Given the description of an element on the screen output the (x, y) to click on. 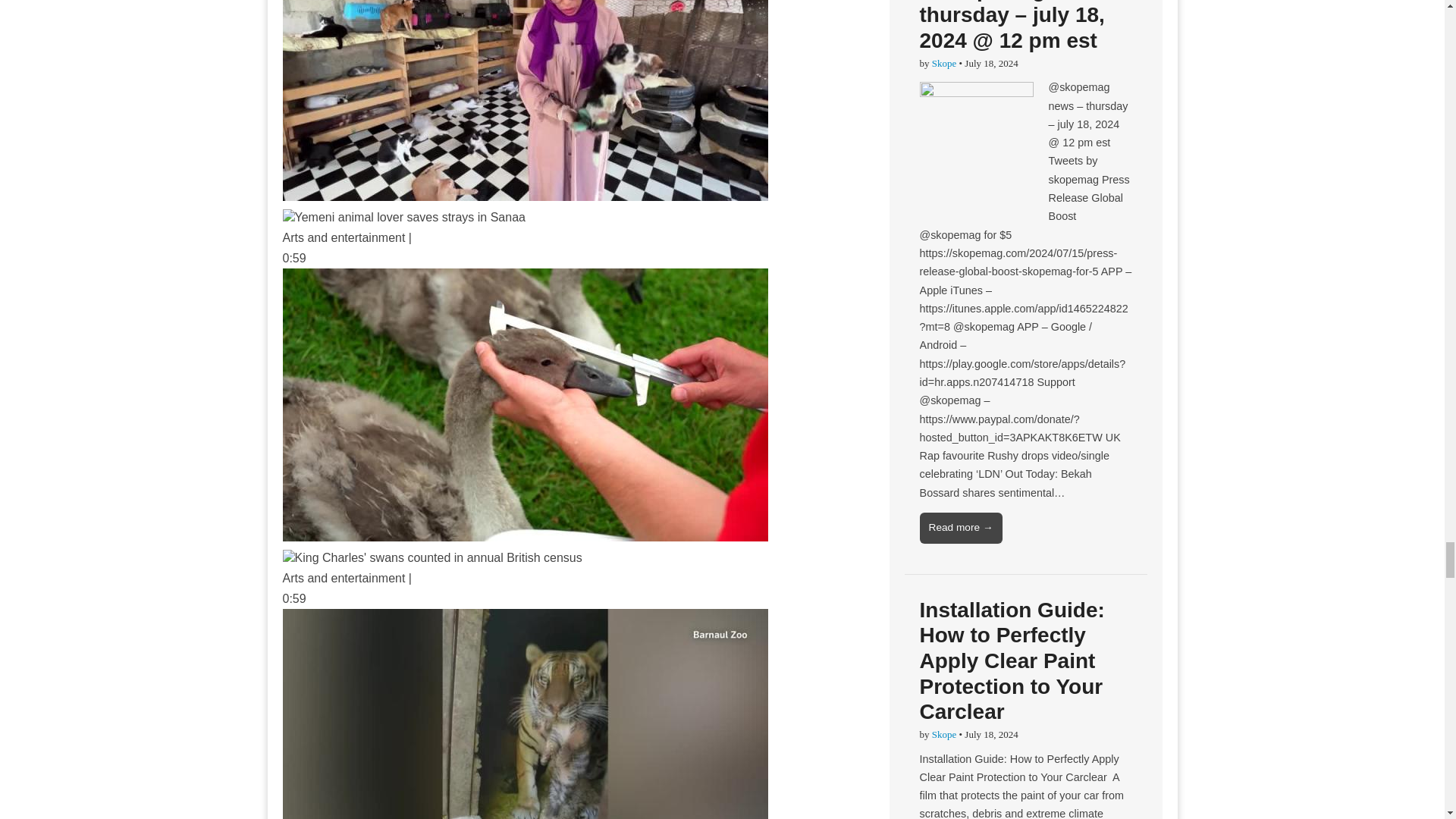
Posts by Skope (943, 62)
